Given the description of an element on the screen output the (x, y) to click on. 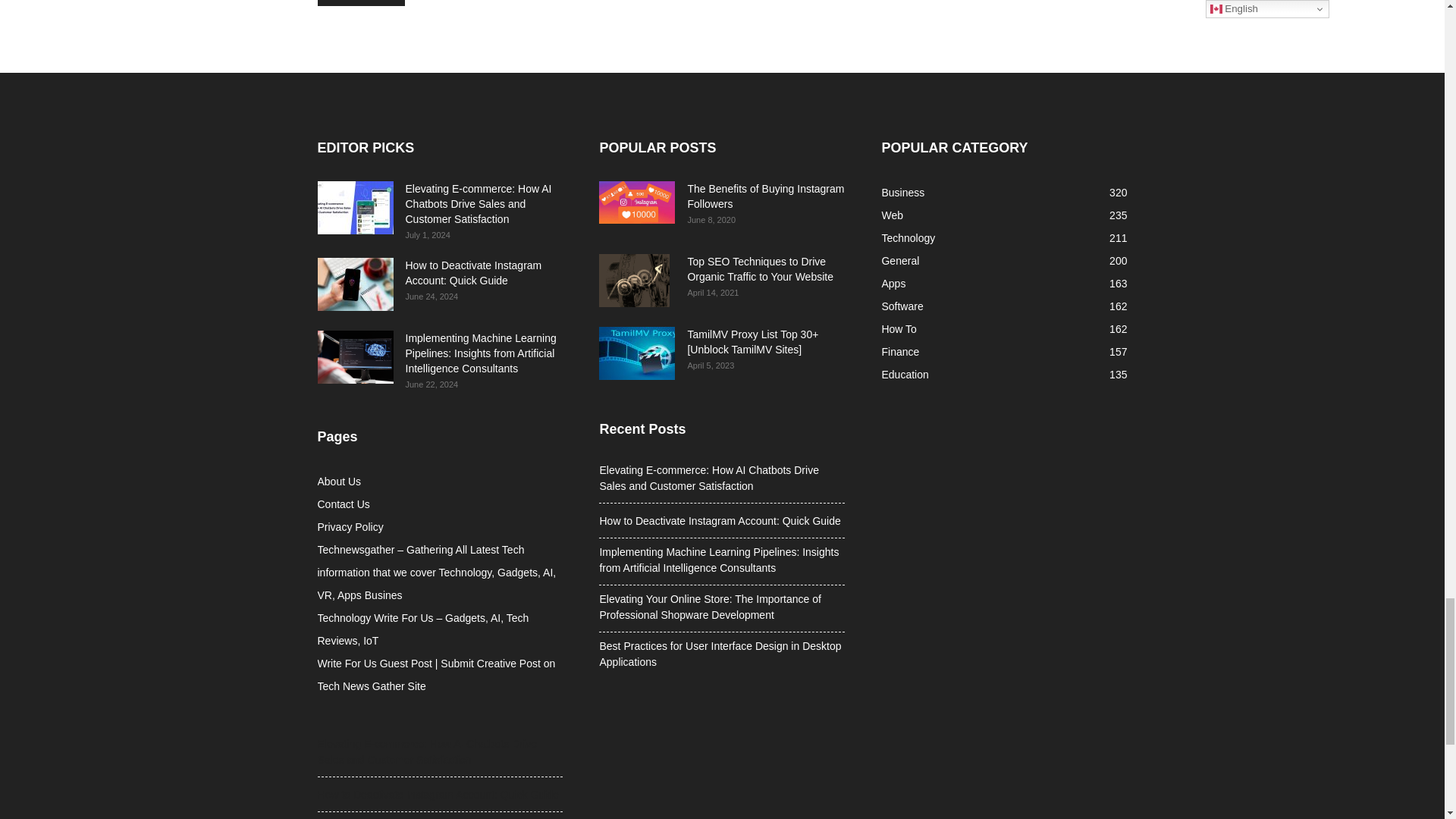
Post Comment (360, 2)
